Given the description of an element on the screen output the (x, y) to click on. 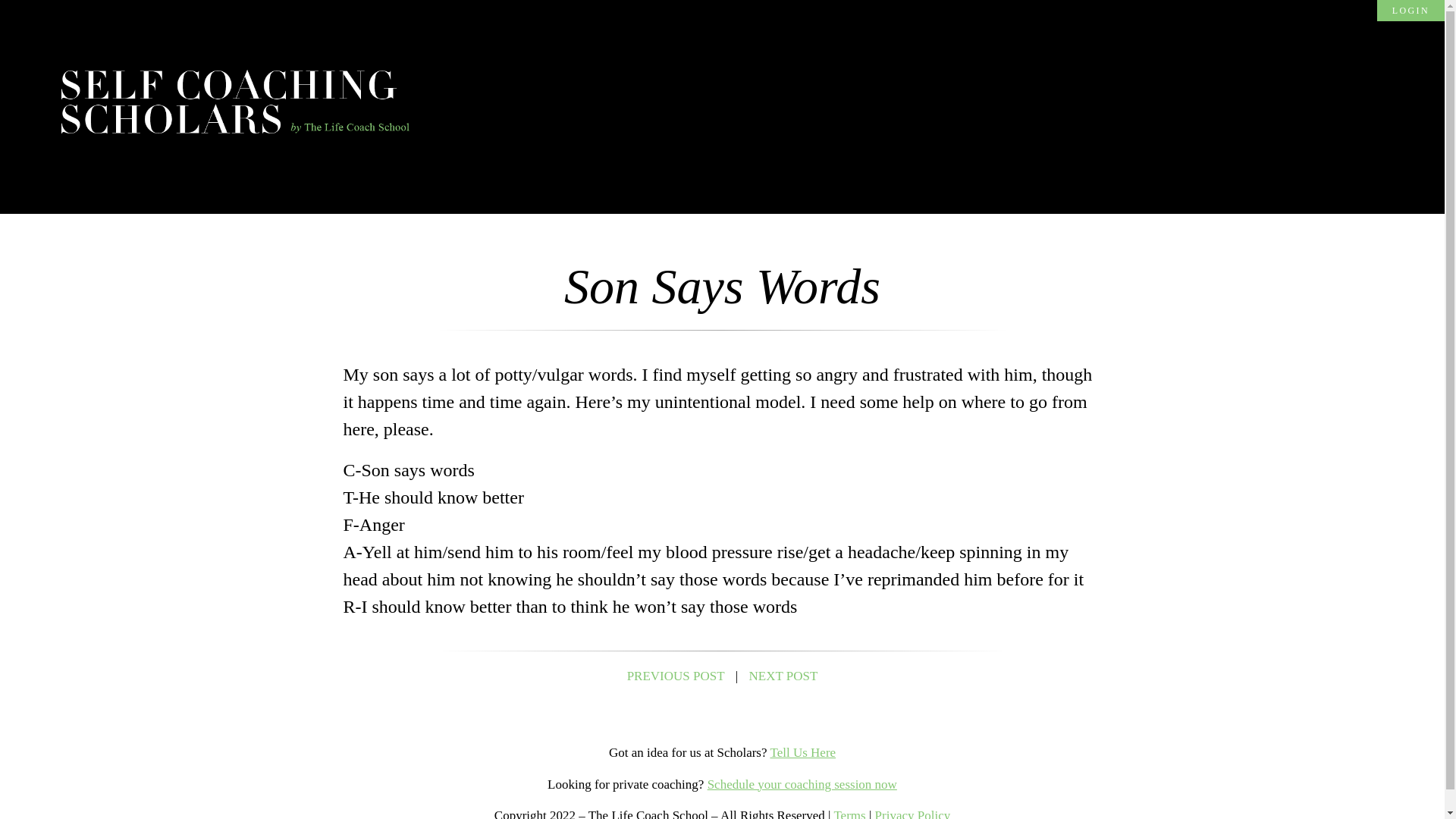
Tell Us Here (802, 752)
PREVIOUS POST (676, 676)
NEXT POST (783, 676)
Terms (848, 813)
Schedule your coaching session now (801, 784)
Privacy Policy (912, 813)
